Given the description of an element on the screen output the (x, y) to click on. 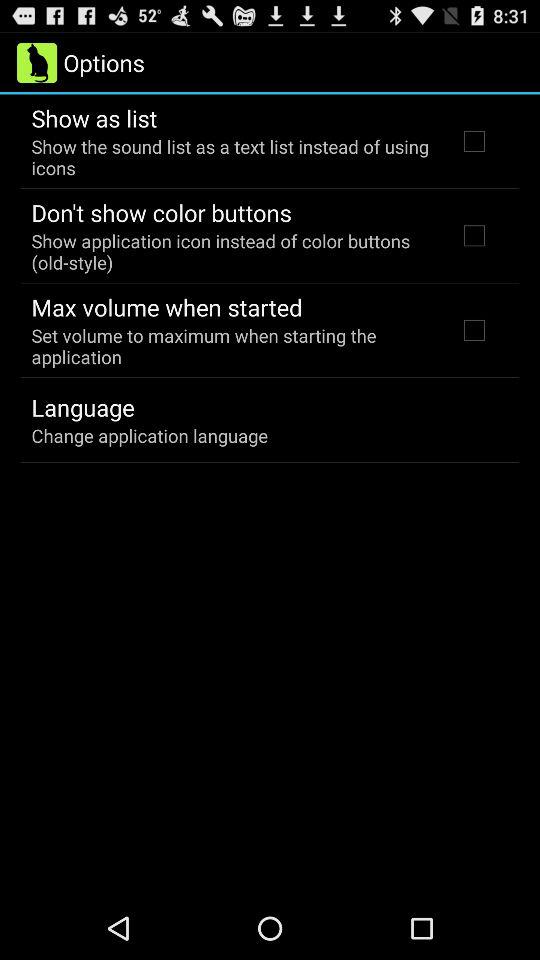
jump until the change application language (149, 435)
